Given the description of an element on the screen output the (x, y) to click on. 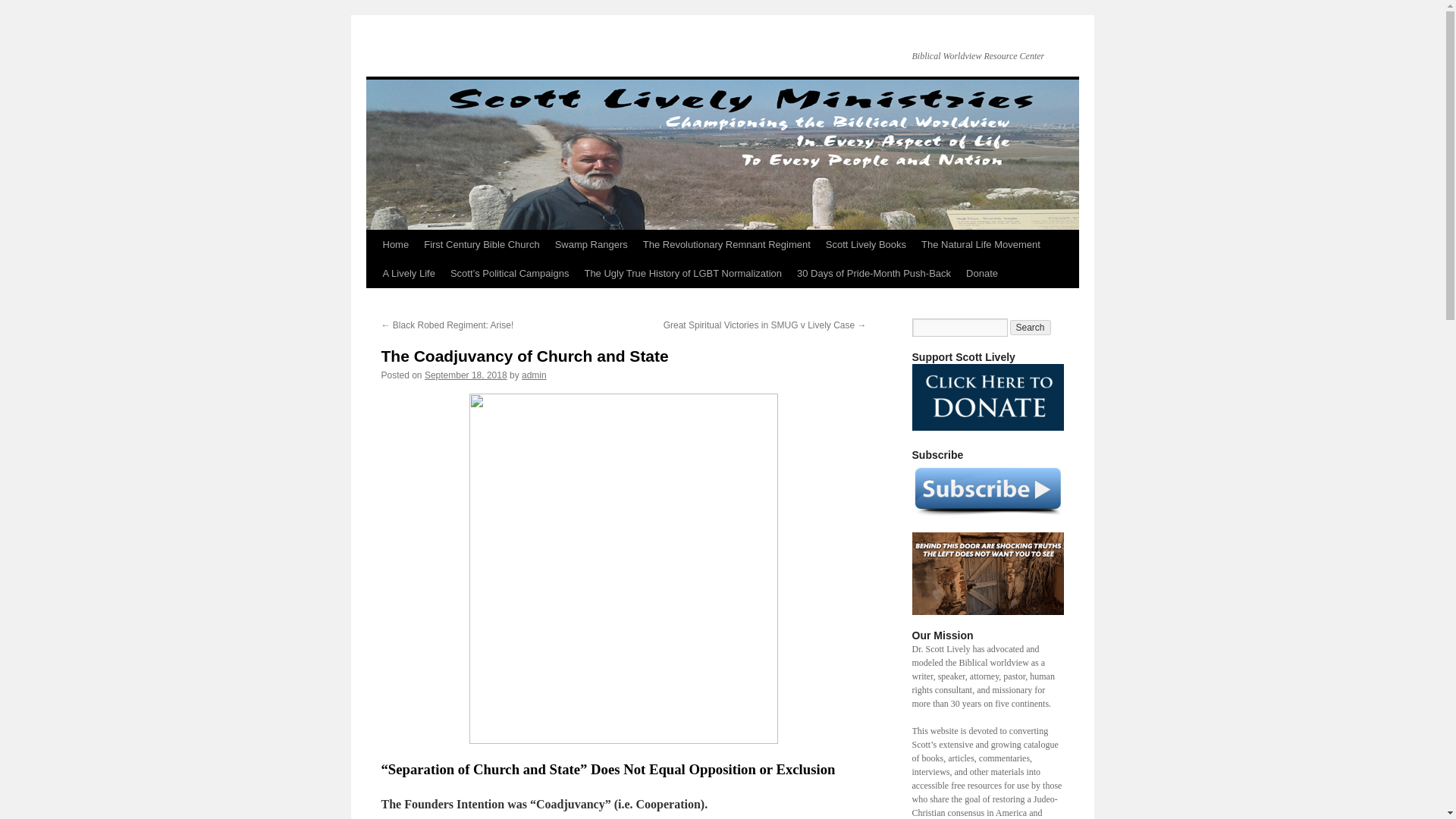
View all posts by admin (534, 375)
30 Days of Pride-Month Push-Back (873, 273)
A Lively Life (408, 273)
The Revolutionary Remnant Regiment (726, 244)
The Natural Life Movement (981, 244)
First Century Bible Church (481, 244)
Scott Lively Books (866, 244)
Search (1030, 327)
Home (395, 244)
The Ugly True History of LGBT Normalization (682, 273)
